Given the description of an element on the screen output the (x, y) to click on. 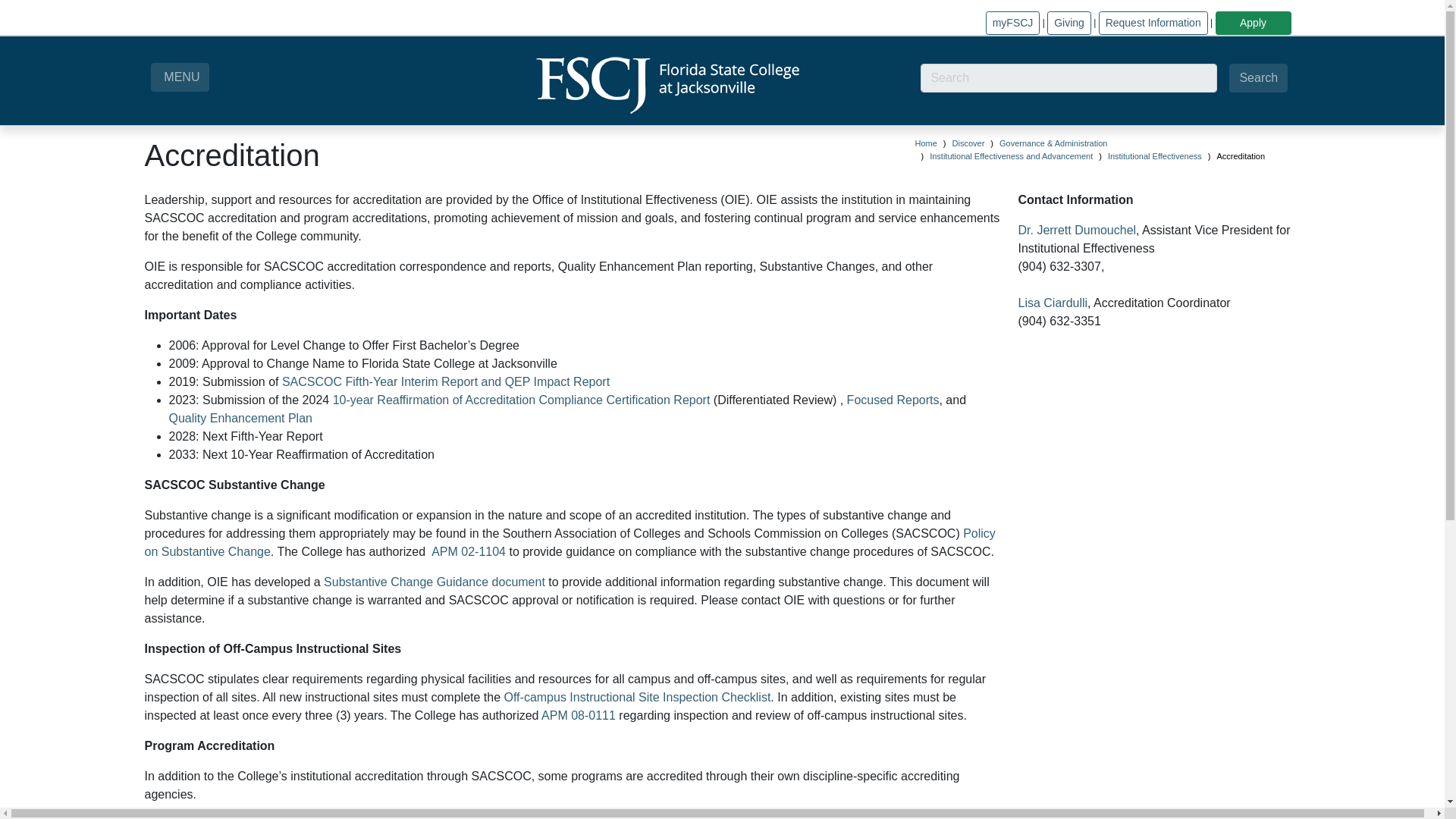
Search input (1068, 77)
viewed here (463, 818)
